Given the description of an element on the screen output the (x, y) to click on. 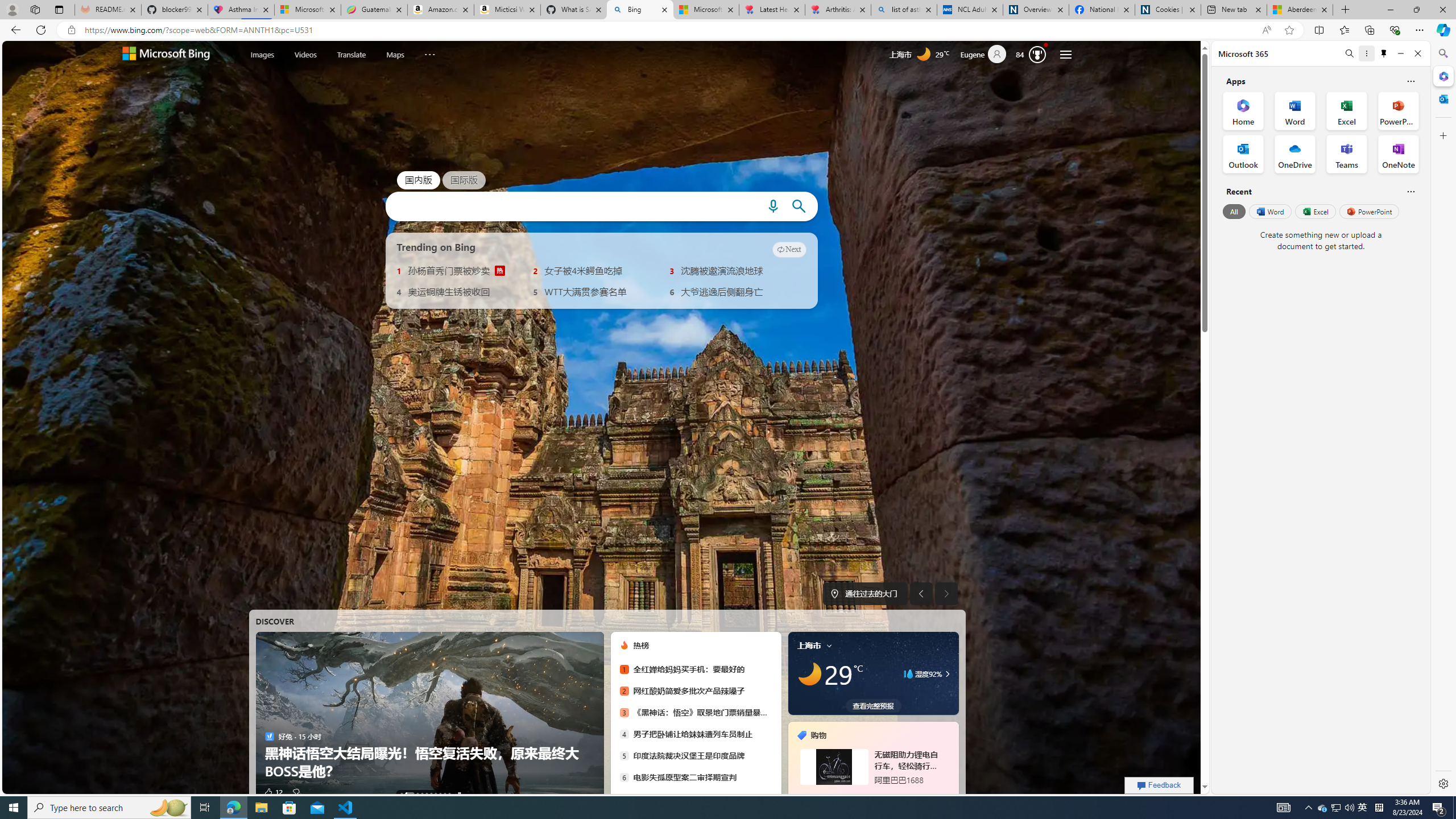
Word Office App (1295, 110)
tab-3 (879, 795)
More (429, 51)
Settings and quick links (1065, 54)
Videos (305, 53)
tab-0 (859, 795)
Word (1269, 210)
Cookies | About | NICE (1167, 9)
